Given the description of an element on the screen output the (x, y) to click on. 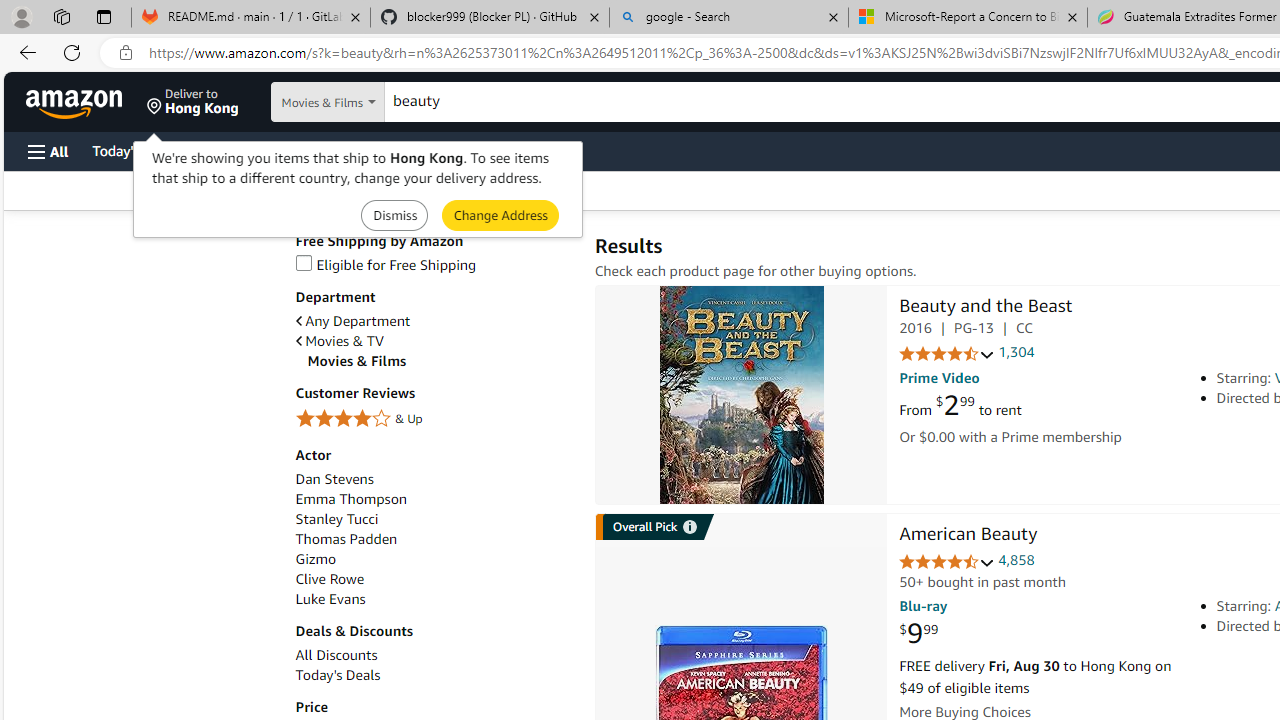
Eligible for Free Shipping (434, 265)
Skip to main content (86, 100)
Microsoft-Report a Concern to Bing (967, 17)
Beauty and the Beast (985, 308)
Gizmo (315, 559)
Luke Evans (434, 599)
Emma Thompson (350, 499)
4,858 (1016, 560)
Movies & TV (434, 340)
Stanley Tucci (434, 519)
4 Stars & Up& Up (434, 420)
Thomas Padden (434, 539)
